Given the description of an element on the screen output the (x, y) to click on. 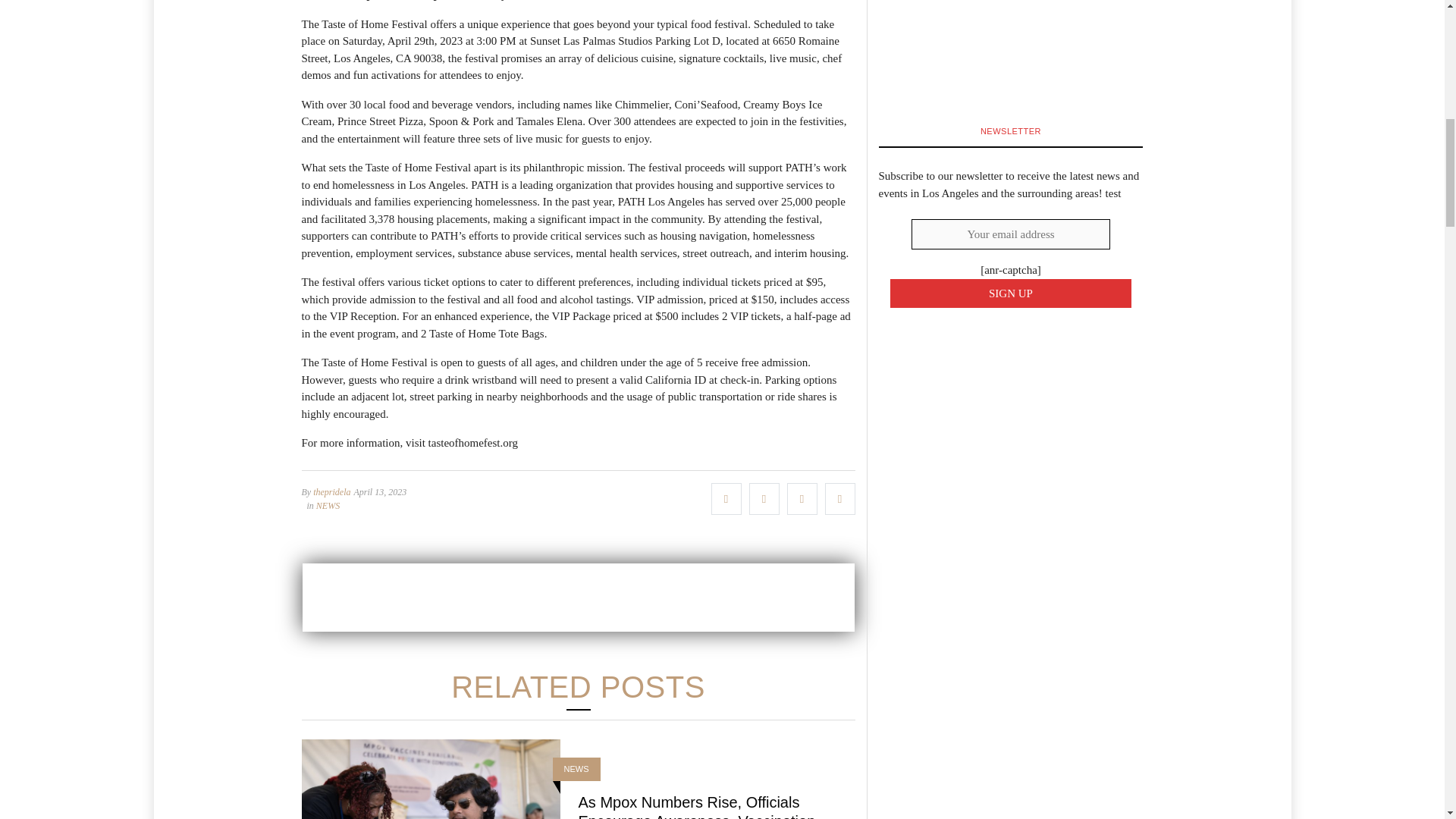
NEWS (327, 505)
Sign up (1010, 293)
thepridela (331, 491)
3rd party ad content (577, 597)
Posts by thepridela (331, 491)
